Given the description of an element on the screen output the (x, y) to click on. 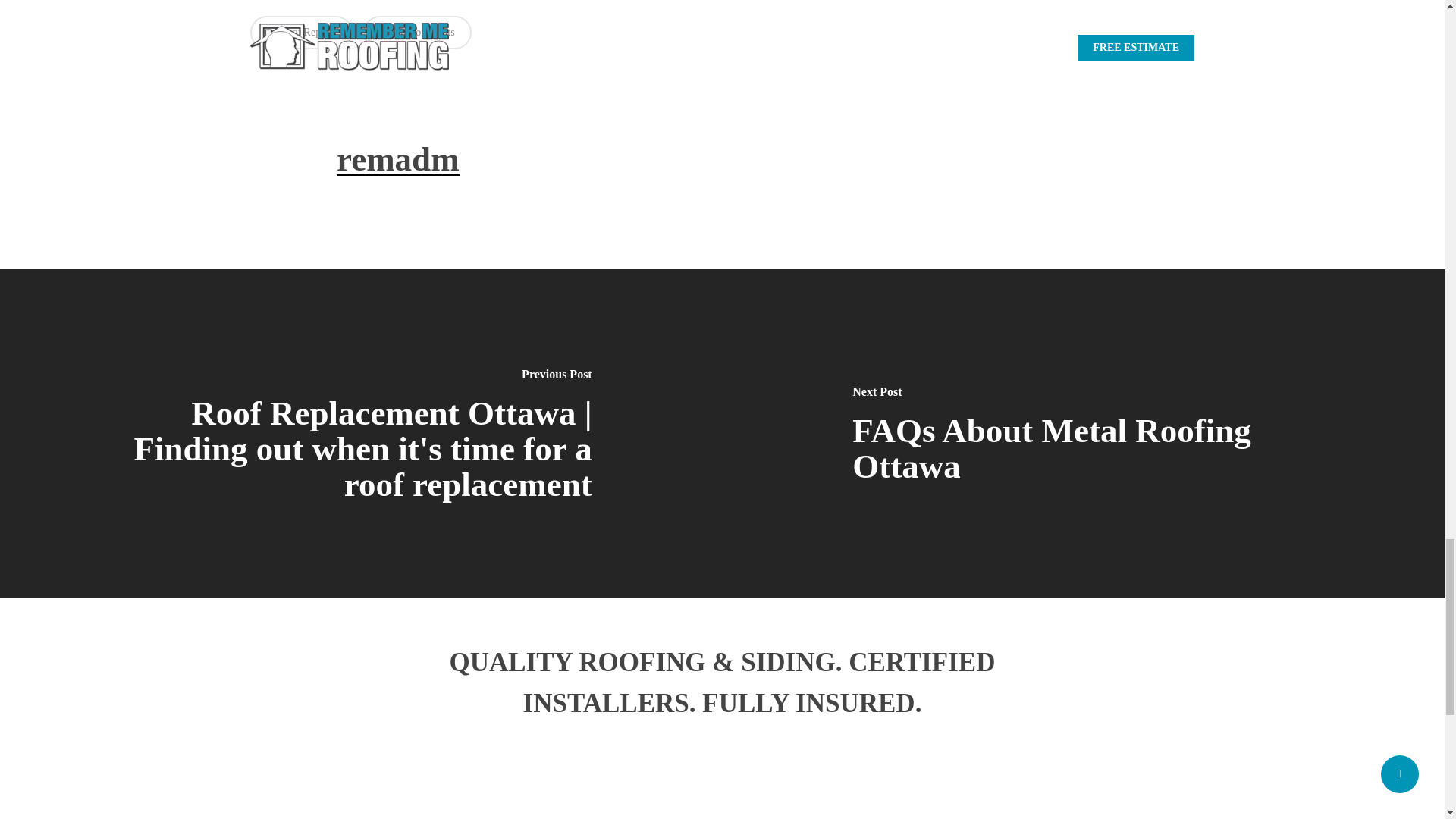
remadm (398, 159)
No Comments (416, 32)
Roof Repairs (301, 32)
